Given the description of an element on the screen output the (x, y) to click on. 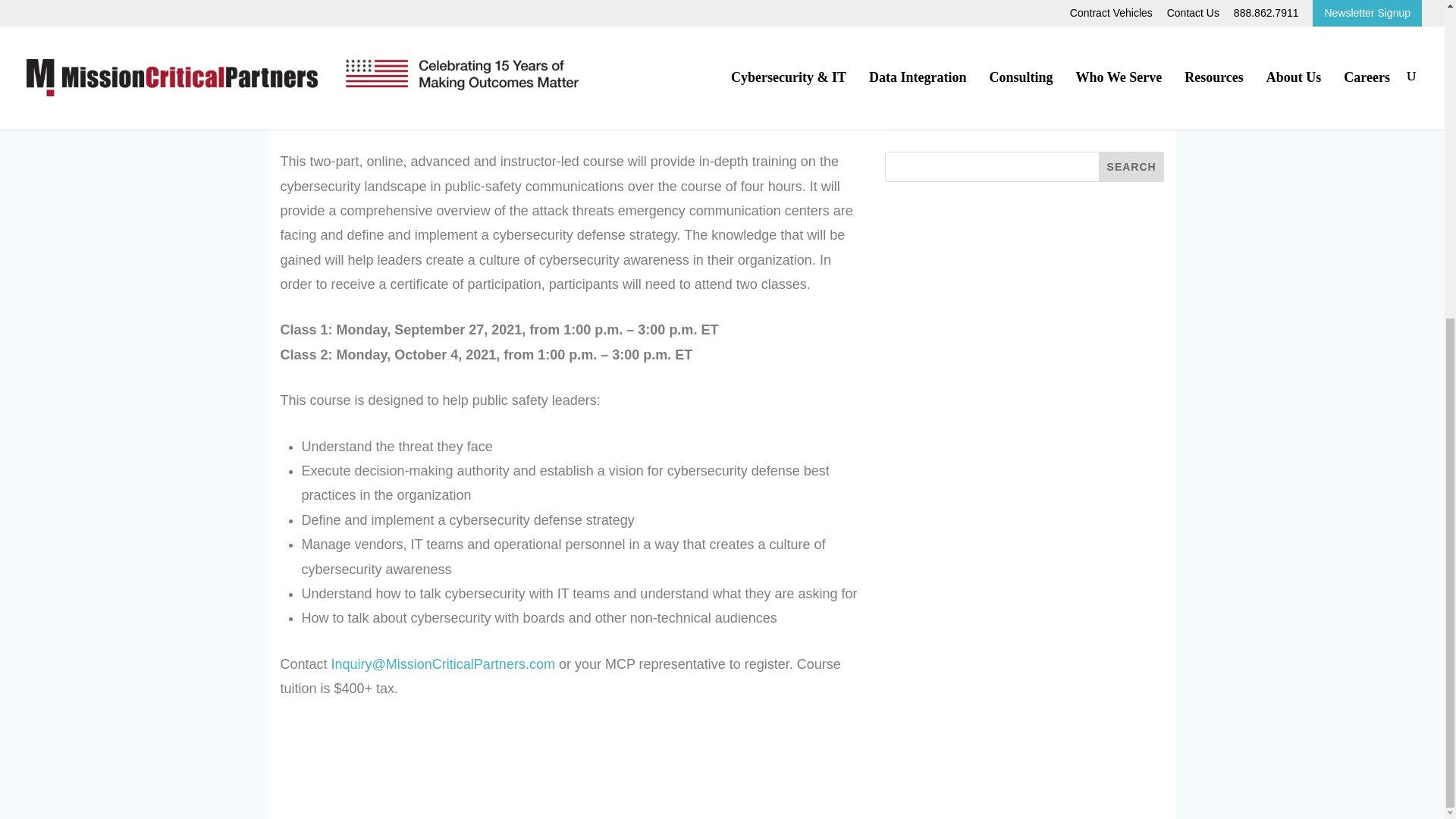
Linkedin (1039, 86)
Email (1073, 86)
Tweet (1005, 86)
Share on Facebook (971, 86)
Search (1131, 166)
